Given the description of an element on the screen output the (x, y) to click on. 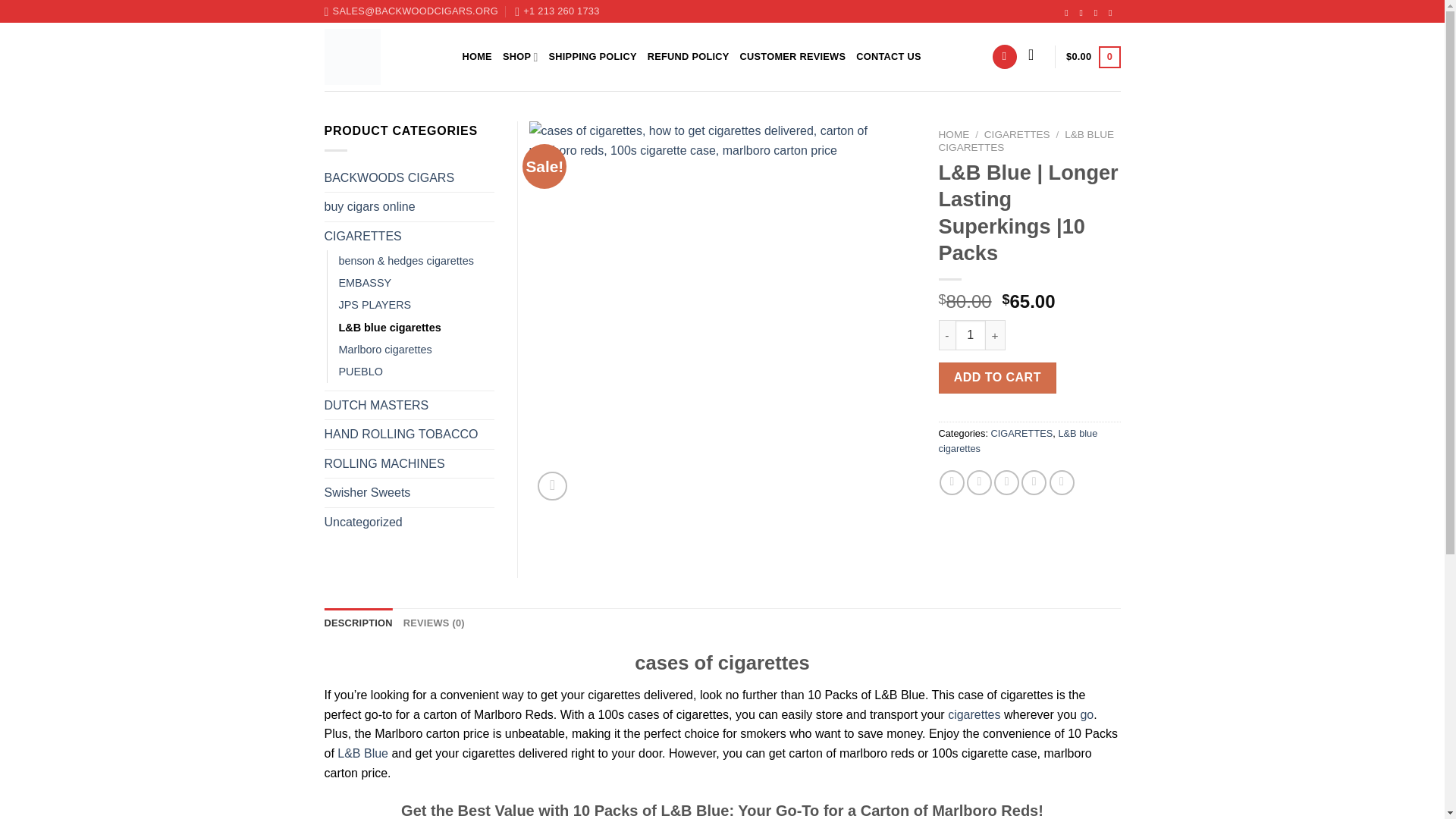
1 (970, 335)
Zoom (552, 486)
BACKWOODS CORNER - Buy backwoods cigars online (381, 56)
SHIPPING POLICY (592, 56)
SHOP (520, 56)
CONTACT US (888, 56)
CUSTOMER REVIEWS (792, 56)
Cart (1092, 57)
REFUND POLICY (688, 56)
HOME (477, 56)
